Given the description of an element on the screen output the (x, y) to click on. 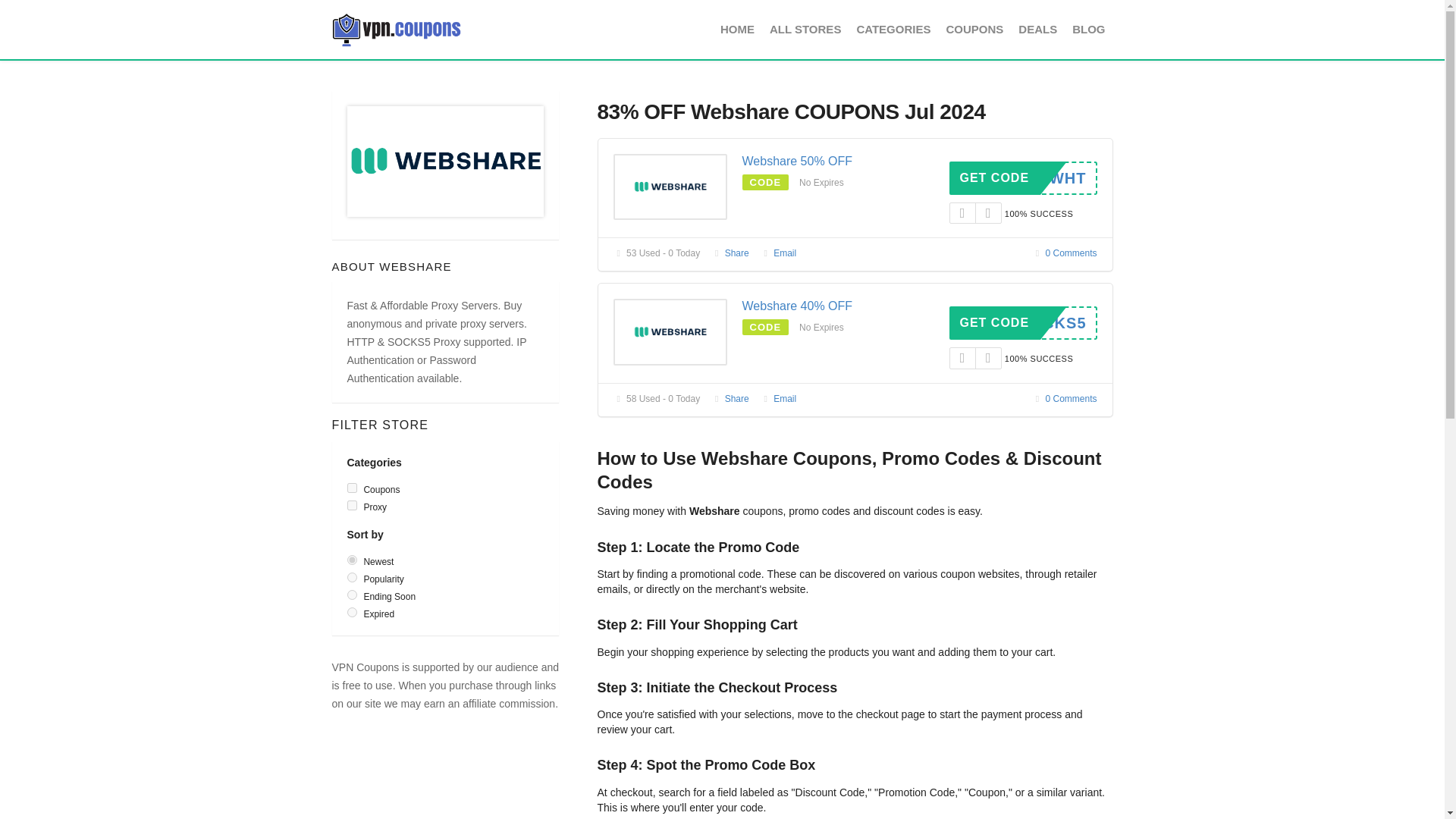
ending-soon (351, 594)
Coupon Comments (1064, 398)
expired (351, 612)
newest (351, 560)
CATEGORIES (892, 29)
Email (778, 253)
HOME (740, 29)
coupons (351, 488)
Best VPN Coupons (396, 28)
0 Comments (1064, 253)
Webshare-480 (670, 187)
popularity (351, 577)
COUPONS (973, 29)
BLOG (1088, 29)
DEALS (1037, 29)
